Given the description of an element on the screen output the (x, y) to click on. 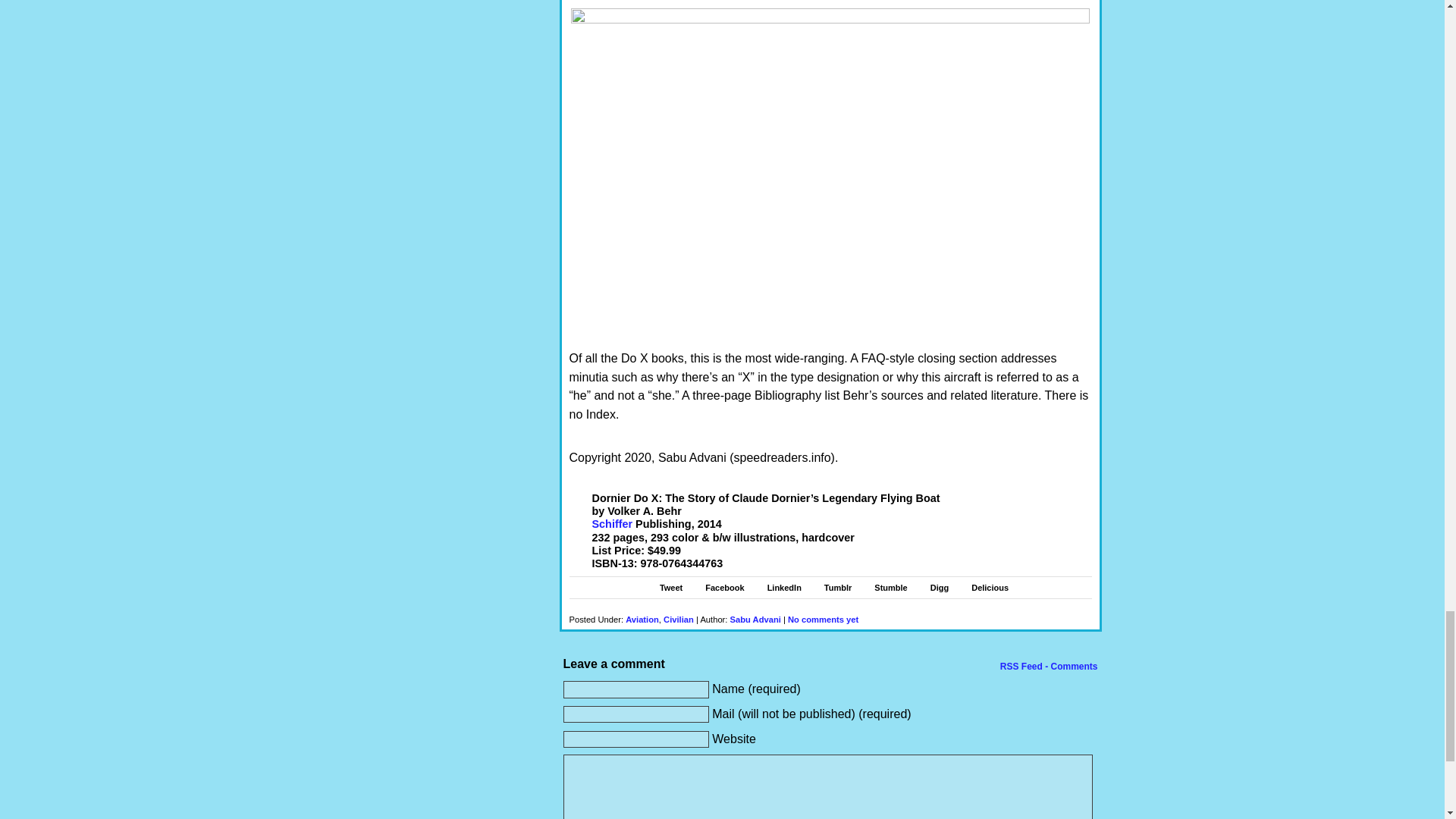
Aviation (642, 619)
Tweet (670, 587)
No comments yet (823, 619)
Tumblr (837, 587)
Share on LinkedIn (784, 587)
RSS Feed - Comments (1047, 665)
Digg (939, 587)
Stumble (891, 587)
Share on Tumblr (837, 587)
Facebook (724, 587)
